Given the description of an element on the screen output the (x, y) to click on. 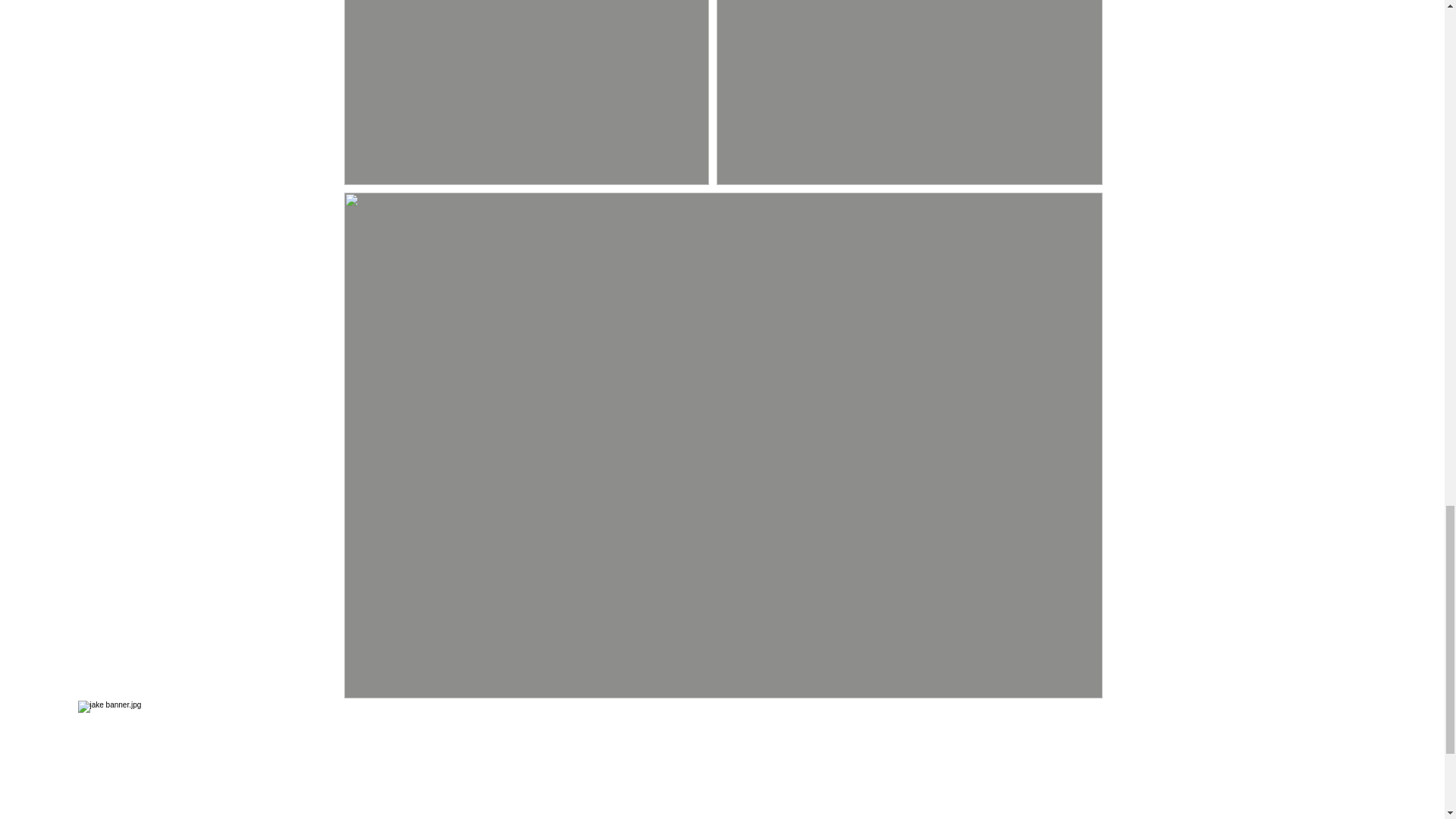
PHOTO PACKAGE (607, 724)
THAT'S RIGHT FOR YOU AND YOUR DOG (815, 724)
